Given the description of an element on the screen output the (x, y) to click on. 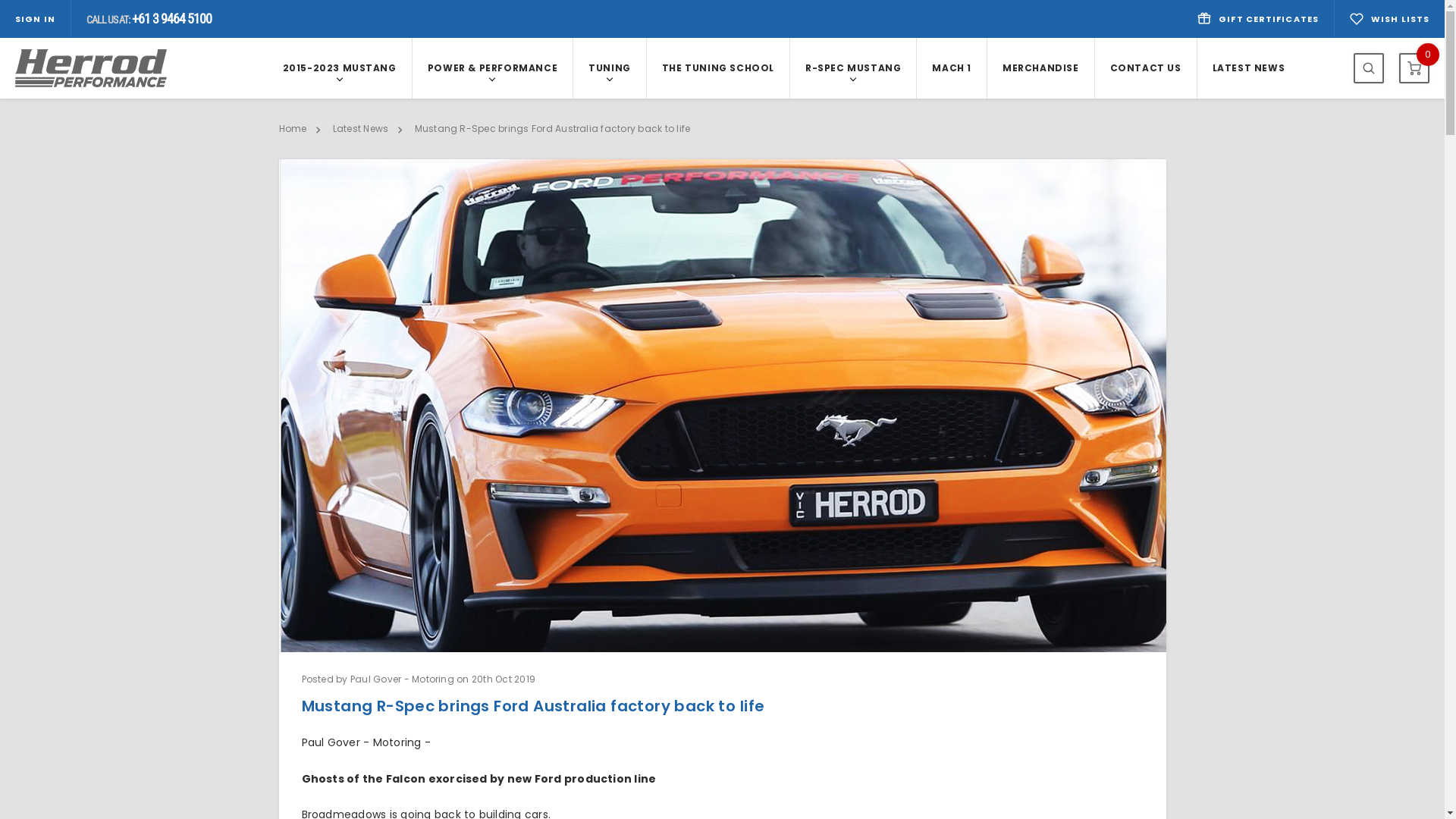
Search Element type: hover (1368, 68)
CONTACT US Element type: text (1145, 67)
SIGN IN Element type: text (35, 18)
MACH 1 Element type: text (951, 67)
Mustang R-Spec brings Ford Australia factory back to life Element type: hover (722, 405)
Mustang R-Spec brings Ford Australia factory back to life Element type: text (552, 128)
THE TUNING SCHOOL Element type: text (717, 67)
Home Element type: text (293, 128)
0 Element type: text (1414, 68)
POWER & PERFORMANCE Element type: text (492, 67)
2015-2023 MUSTANG Element type: text (338, 67)
Latest News Element type: text (360, 128)
R-SPEC MUSTANG Element type: text (853, 67)
LATEST NEWS Element type: text (1248, 67)
GIFT CERTIFICATES Element type: text (1257, 18)
MERCHANDISE Element type: text (1040, 67)
WISH LISTS Element type: text (1389, 18)
Paul Gover - Motoring Element type: text (361, 741)
TUNING Element type: text (609, 67)
